Given the description of an element on the screen output the (x, y) to click on. 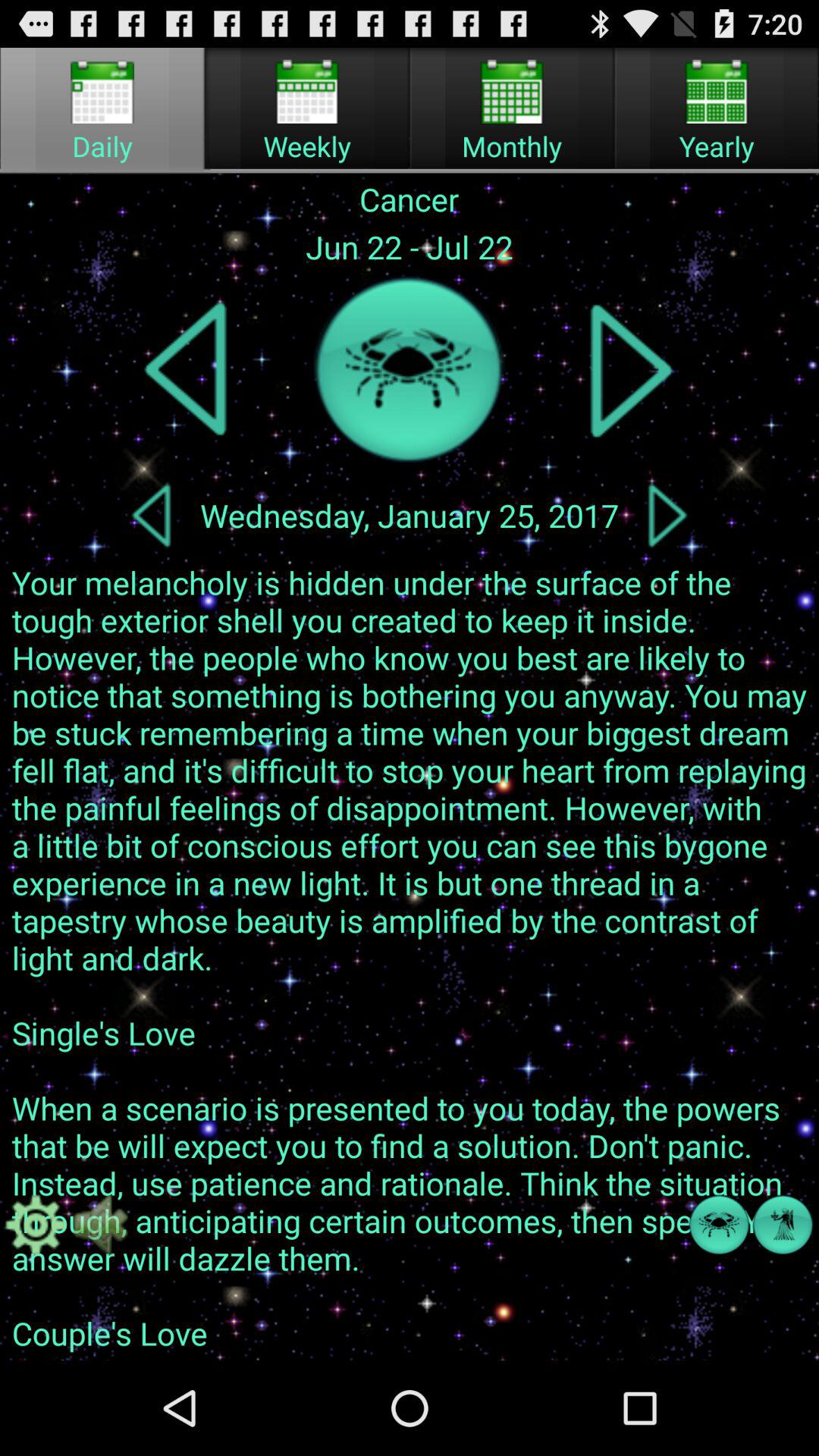
settings (35, 1224)
